Given the description of an element on the screen output the (x, y) to click on. 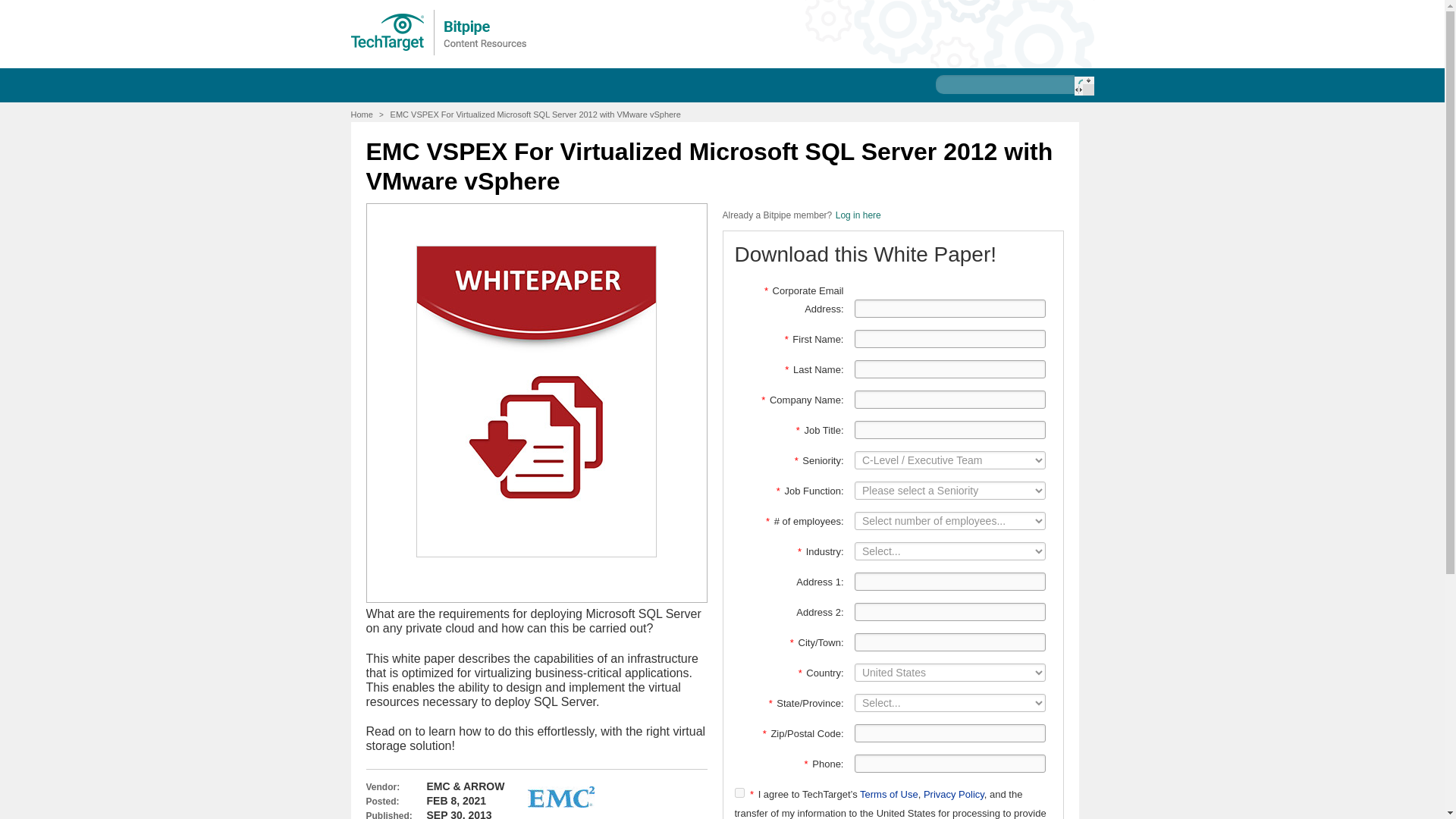
Bitpipe (439, 32)
Home (361, 113)
Terms of Use (889, 794)
Search (1083, 85)
Search (1083, 85)
Privacy Policy (953, 794)
Log in here (857, 214)
true (738, 792)
